Given the description of an element on the screen output the (x, y) to click on. 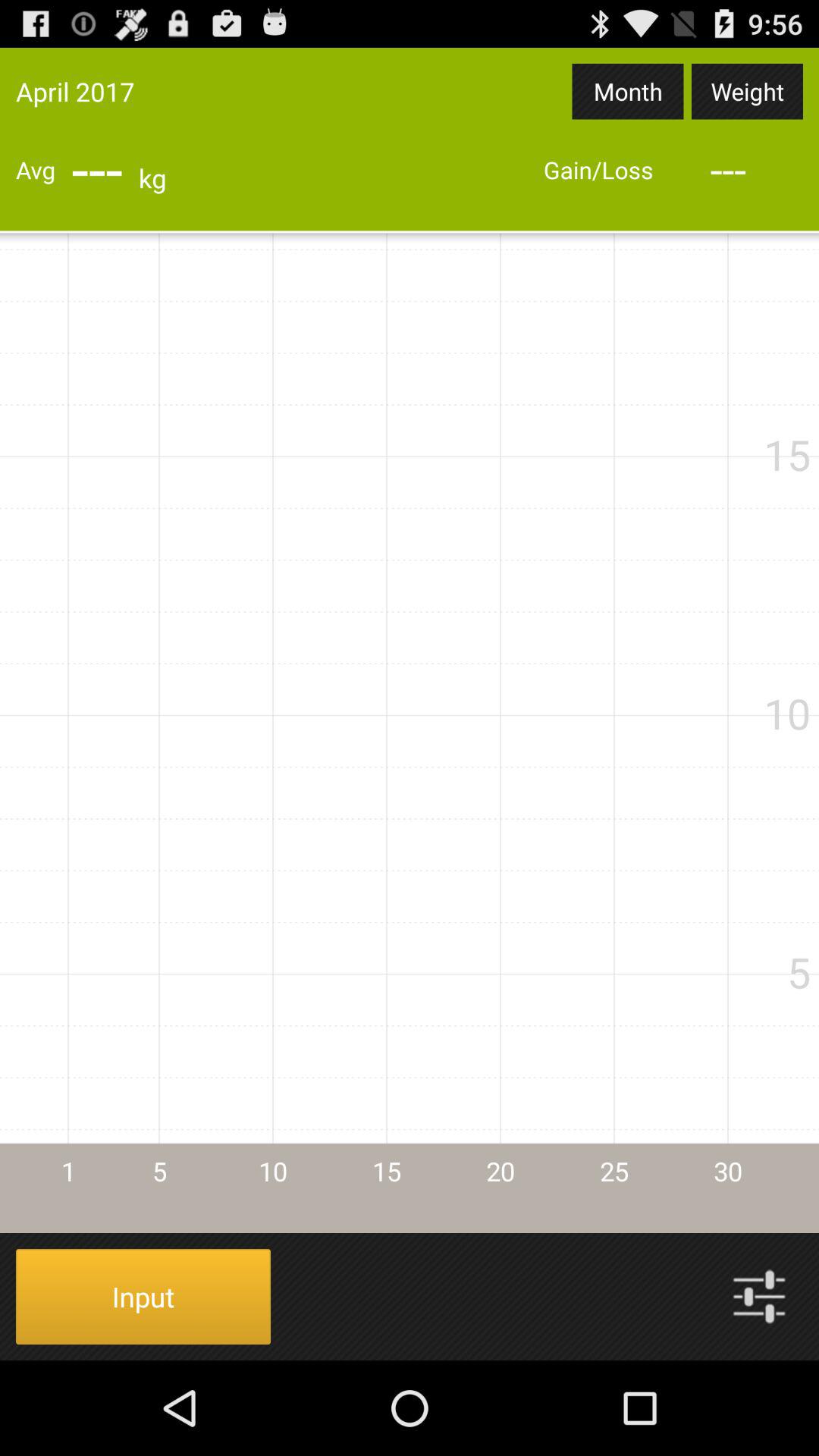
choose item next to the april 2017 icon (627, 91)
